Given the description of an element on the screen output the (x, y) to click on. 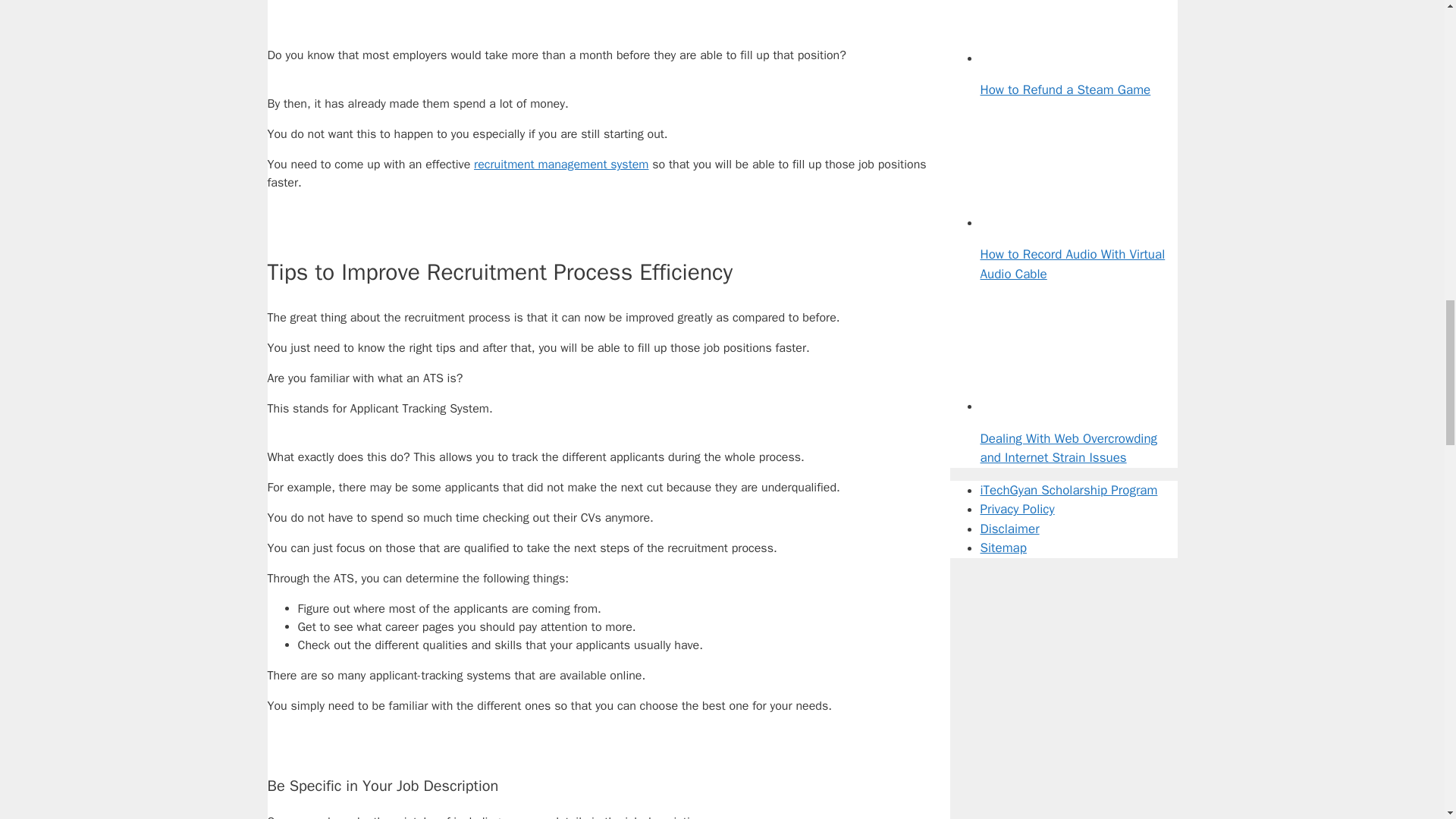
recruitment management system (560, 164)
How to Refund a Steam Game (1064, 89)
How to Refund a Steam Game (1036, 57)
